Given the description of an element on the screen output the (x, y) to click on. 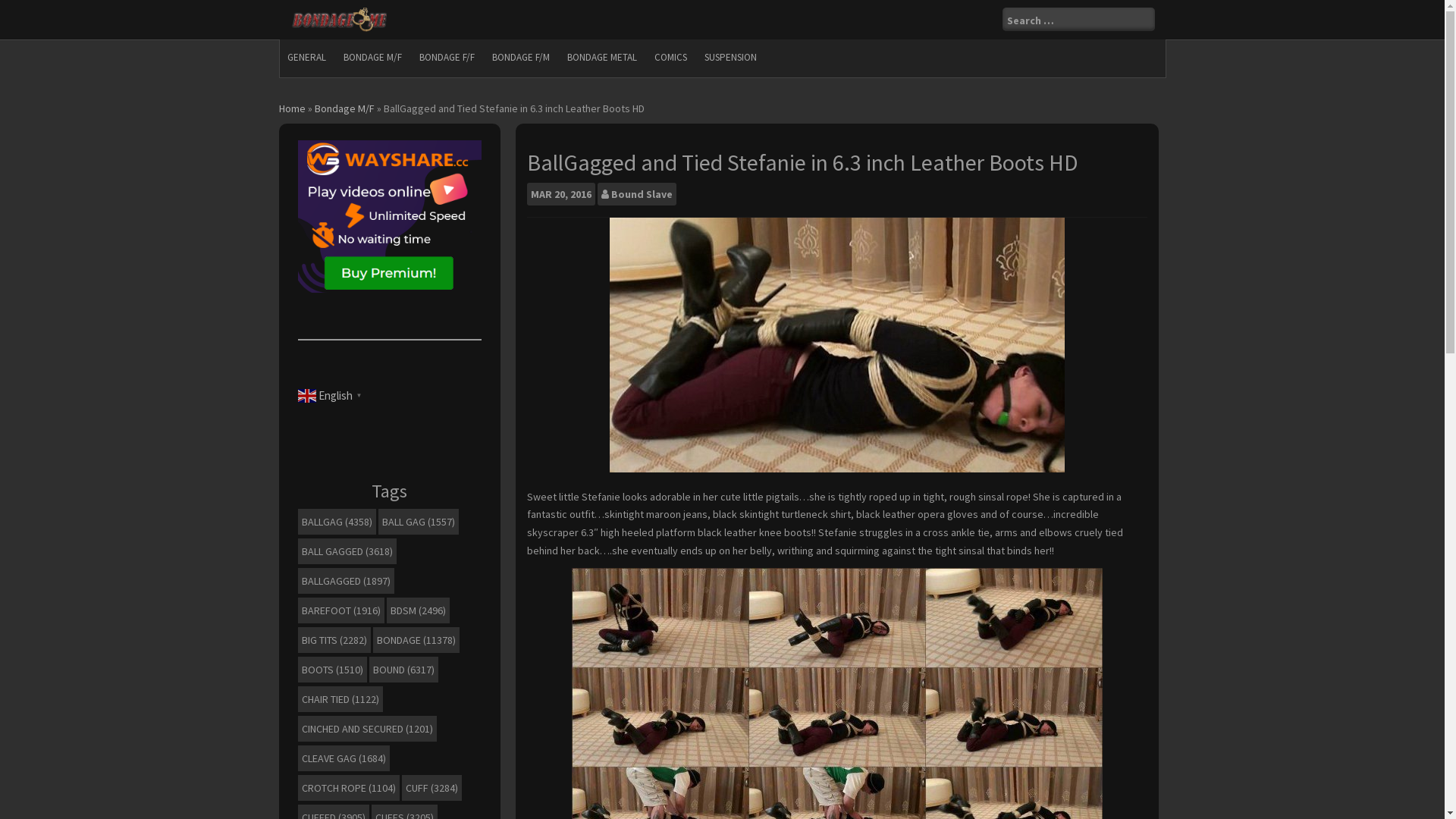
BONDAGE M/F Element type: text (371, 57)
Bound Slave Element type: text (641, 193)
CUFF (3284) Element type: text (431, 787)
CHAIR TIED (1122) Element type: text (339, 699)
Search Element type: text (23, 9)
CROTCH ROPE (1104) Element type: text (347, 787)
BONDAGE METAL Element type: text (601, 57)
GENERAL Element type: text (305, 57)
Bondage M/F Element type: text (343, 108)
BALL GAG (1557) Element type: text (417, 521)
BOOTS (1510) Element type: text (331, 669)
BONDAGE F/M Element type: text (519, 57)
BALL GAGGED (3618) Element type: text (346, 551)
COMICS Element type: text (669, 57)
CINCHED AND SECURED (1201) Element type: text (366, 728)
SUSPENSION Element type: text (729, 57)
BONDAGE (11378) Element type: text (416, 639)
BALLGAG (4358) Element type: text (336, 521)
BALLGAGGED (1897) Element type: text (345, 580)
BDSM (2496) Element type: text (417, 610)
CLEAVE GAG (1684) Element type: text (343, 758)
BOUND (6317) Element type: text (402, 669)
BIG TITS (2282) Element type: text (333, 639)
BAREFOOT (1916) Element type: text (340, 610)
Home Element type: text (292, 108)
BONDAGE F/F Element type: text (446, 57)
